Given the description of an element on the screen output the (x, y) to click on. 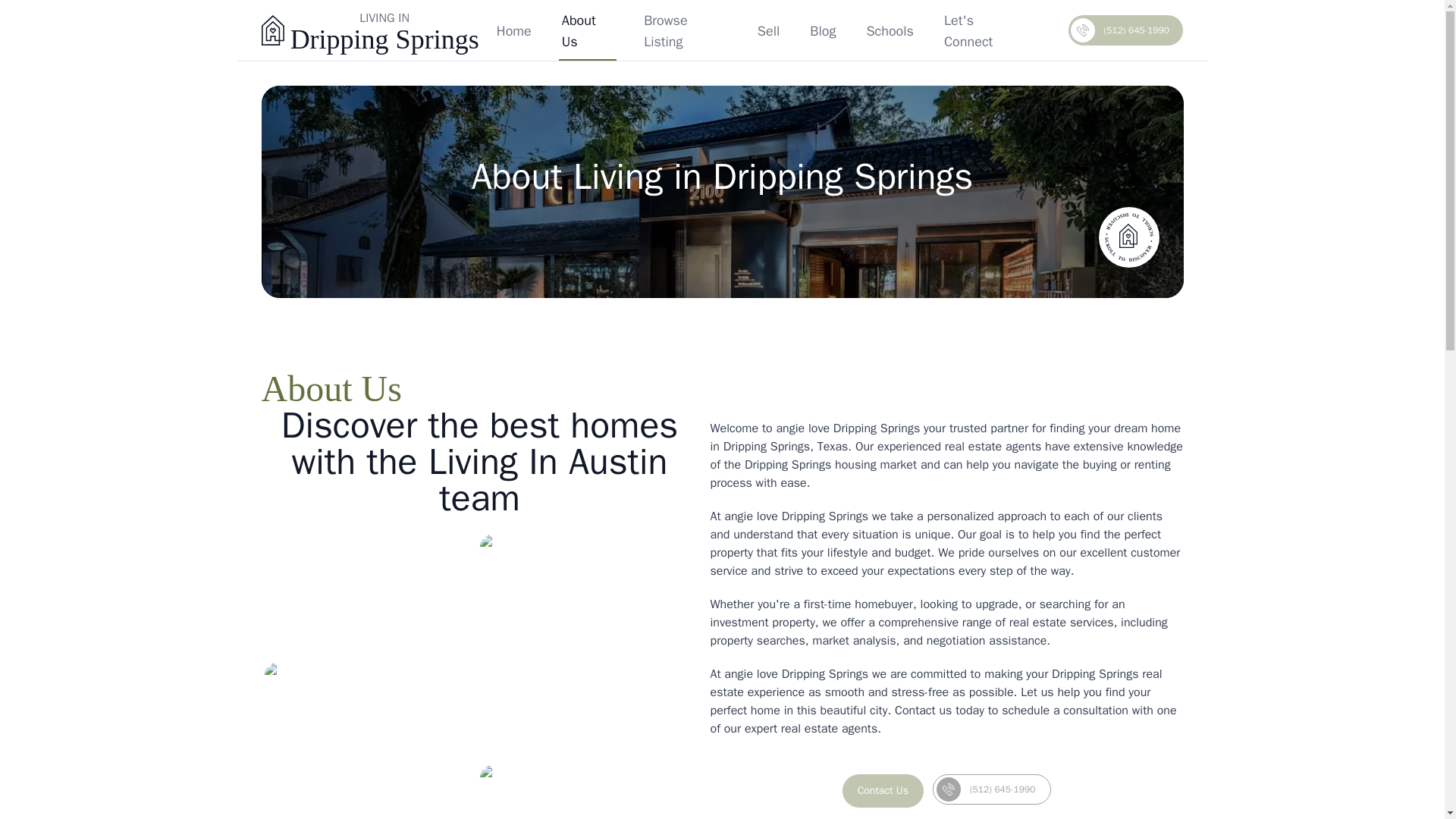
Browse Listing (685, 30)
About Us (587, 30)
Contact Us (883, 790)
Let's Connect (983, 30)
